Given the description of an element on the screen output the (x, y) to click on. 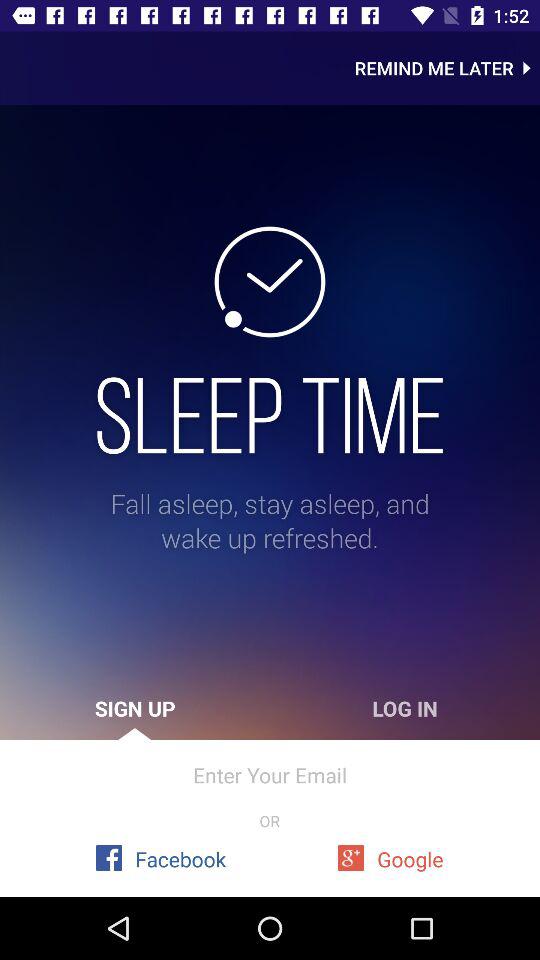
launch icon above or icon (270, 774)
